Given the description of an element on the screen output the (x, y) to click on. 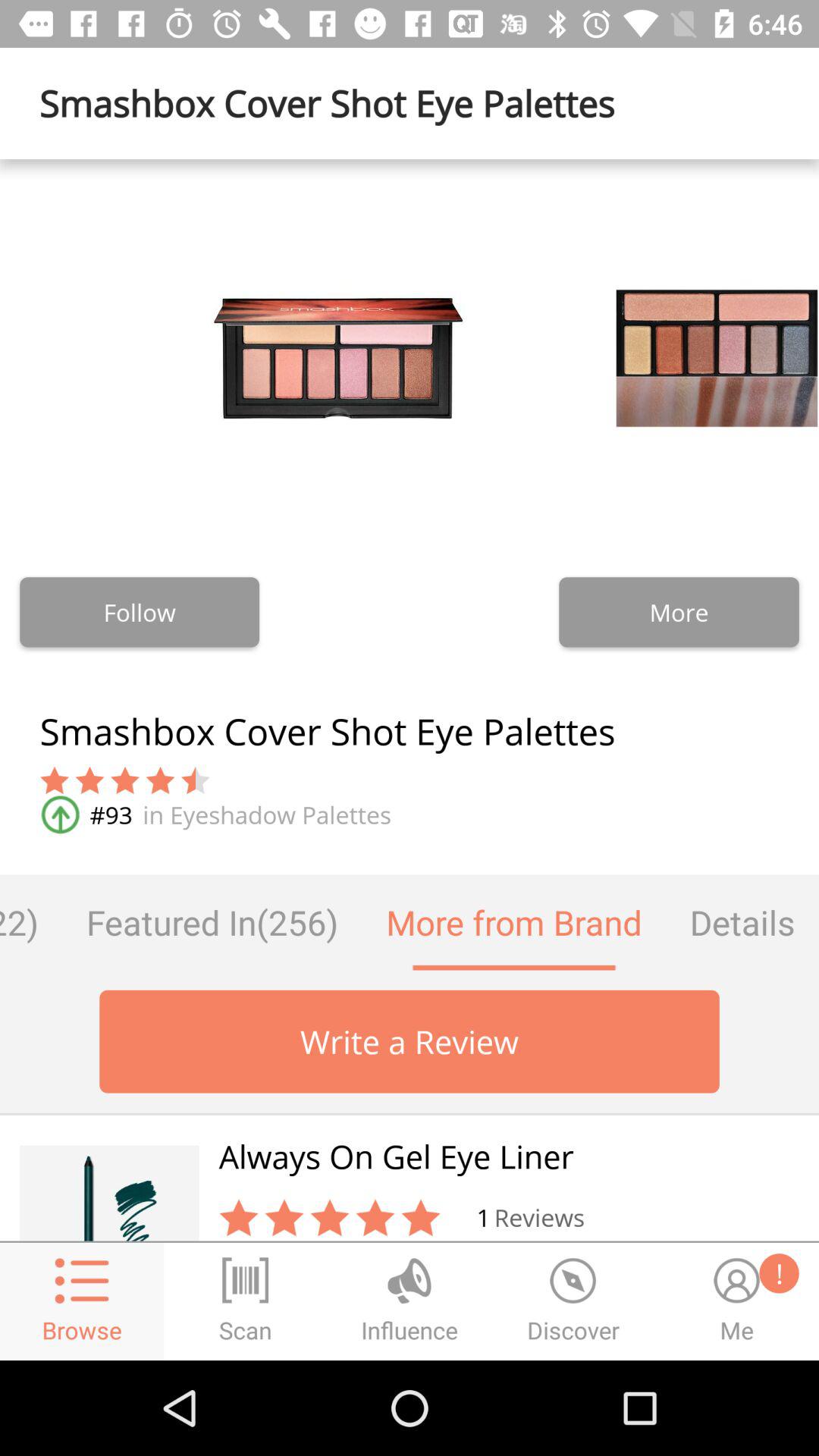
turn on the icon above the write a review (212, 922)
